Given the description of an element on the screen output the (x, y) to click on. 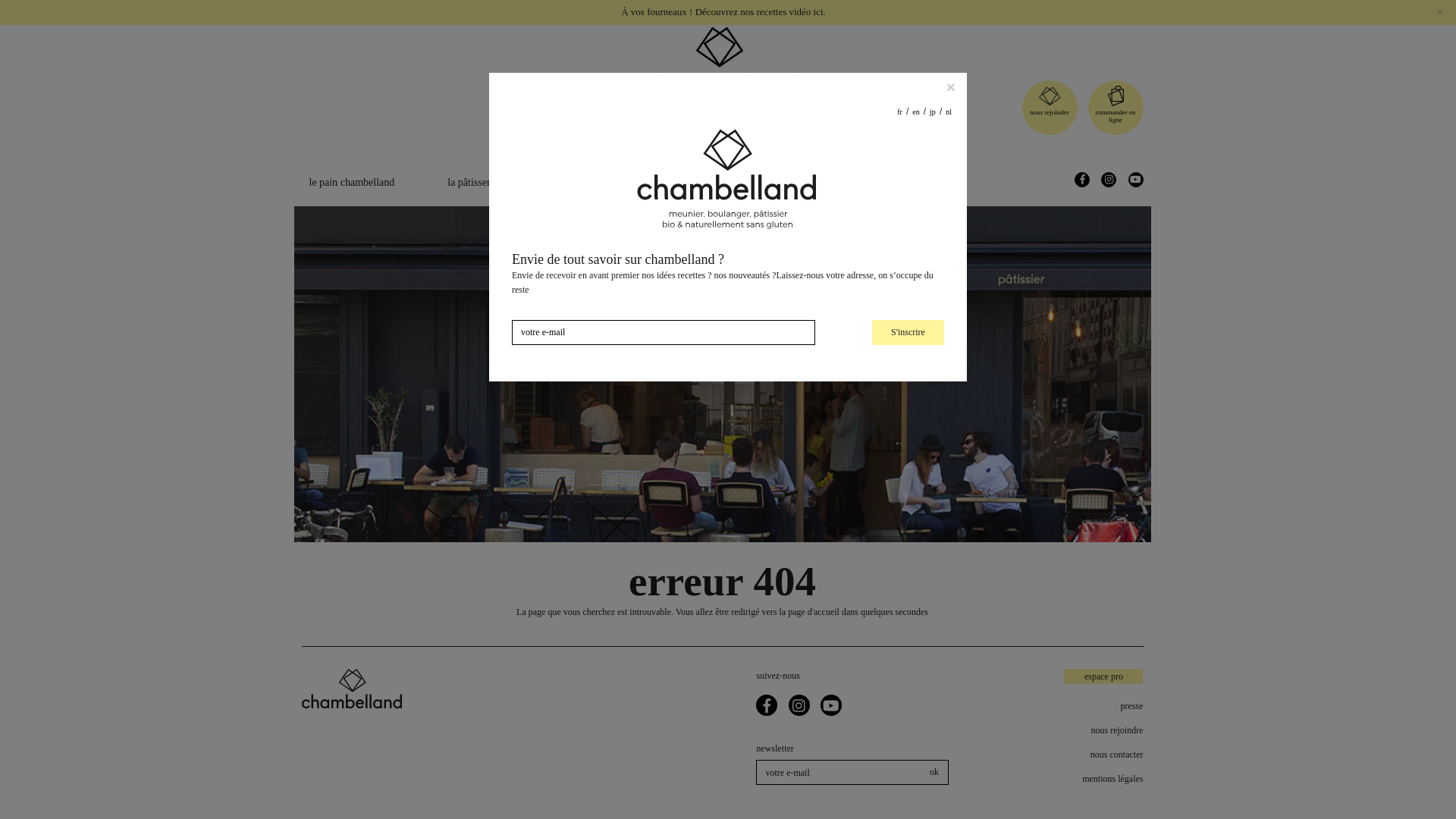
nous rejoindre (1072, 730)
le pain chambelland (351, 182)
fr (1091, 11)
les boutiques (781, 182)
commander en ligne (1116, 115)
nous contacter (1072, 754)
jp (1123, 11)
ok (934, 772)
nous rejoindre (1049, 112)
presse (1072, 705)
notre histoire (672, 182)
en (1106, 11)
les revendeurs (892, 182)
S'inscrire (907, 310)
nl (1139, 11)
